Given the description of an element on the screen output the (x, y) to click on. 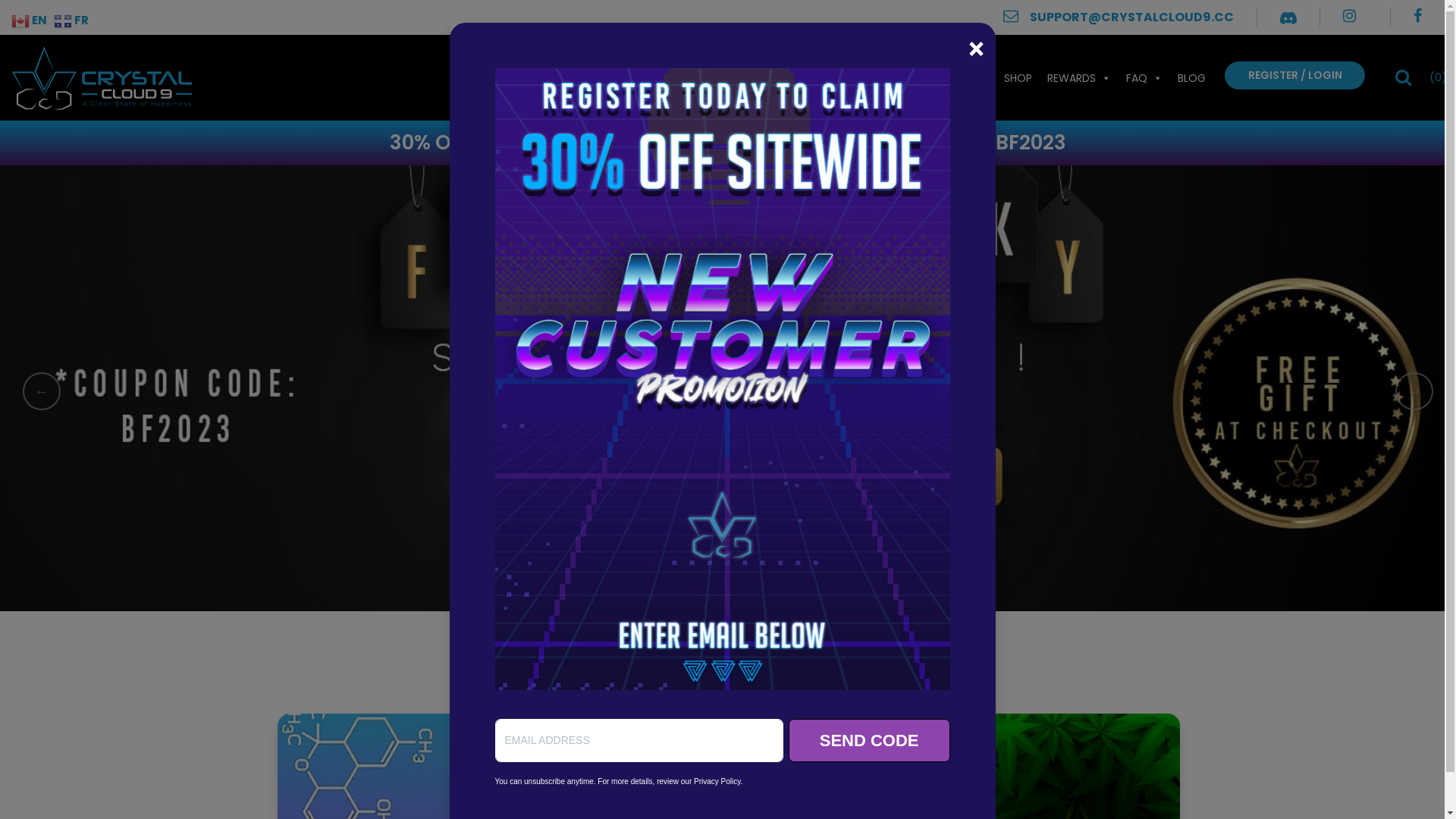
HOME Element type: text (878, 77)
SUPPORT@CRYSTALCLOUD9.CC Element type: text (1118, 16)
REWARDS Element type: text (1078, 77)
SHOP Element type: text (1017, 77)
(0) Element type: text (1437, 77)
REGISTER / LOGIN Element type: text (1294, 74)
CATEGORIES Element type: text (948, 77)
FAQ Element type: text (1144, 77)
BLOG Element type: text (1191, 77)
FR Element type: text (72, 19)
EN Element type: text (30, 19)
Next Element type: text (1414, 390)
Previous Element type: text (41, 390)
